Given the description of an element on the screen output the (x, y) to click on. 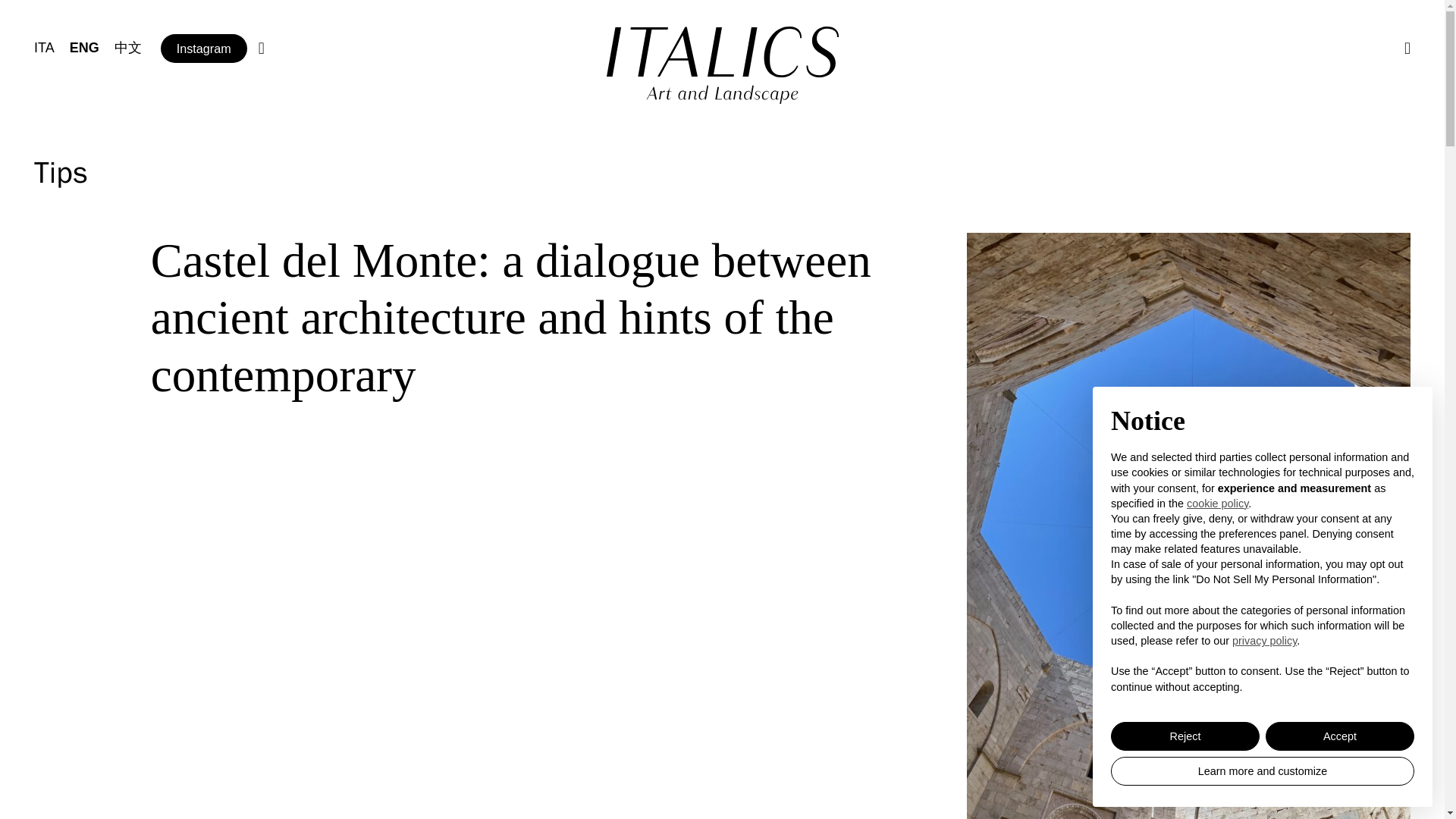
ENG (84, 47)
Instagram (203, 48)
Ita (44, 47)
Italics (722, 51)
ITA (44, 47)
Eng (84, 47)
